Given the description of an element on the screen output the (x, y) to click on. 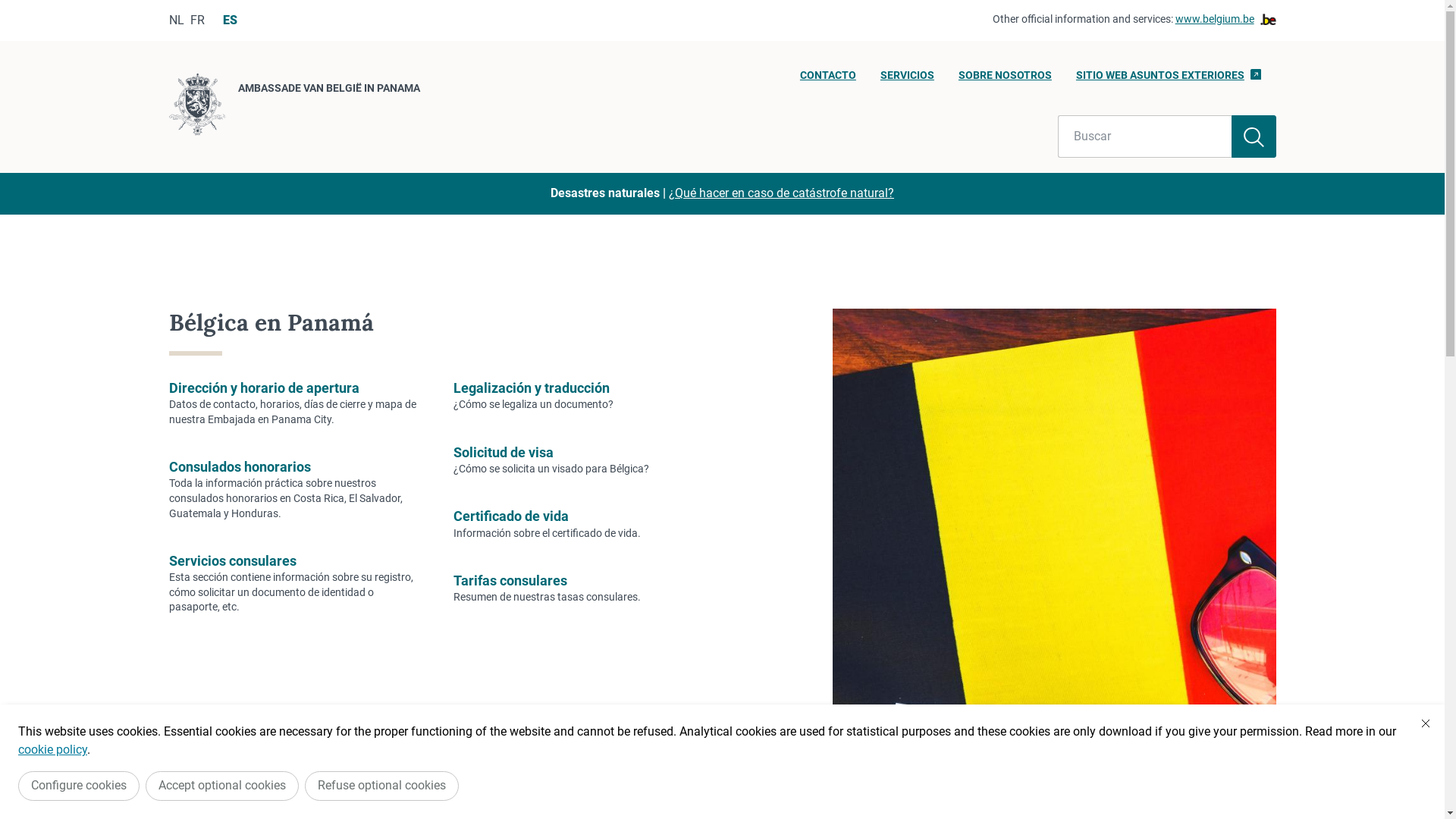
Accept optional cookies Element type: text (221, 785)
Tarifas consulares Element type: text (510, 580)
NL Element type: text (175, 19)
Apply filter Element type: text (1253, 136)
cookie policy Element type: text (52, 749)
Close Element type: hover (1425, 723)
CONTACTO Element type: text (827, 79)
Consulados honorarios Element type: text (239, 466)
SERVICIOS Element type: text (907, 79)
Configure cookies Element type: text (78, 785)
Buscar Element type: hover (1144, 136)
FR Element type: text (196, 19)
Skip to main content Element type: text (7, 4)
www.belgium.be Element type: text (1225, 19)
SOBRE NOSOTROS Element type: text (1004, 79)
SITIO WEB ASUNTOS EXTERIORES Element type: text (1168, 79)
Certificado de vida Element type: text (510, 516)
ES Element type: text (229, 19)
Solicitud de visa Element type: text (503, 452)
Refuse optional cookies Element type: text (381, 785)
Servicios consulares Element type: text (231, 560)
